Given the description of an element on the screen output the (x, y) to click on. 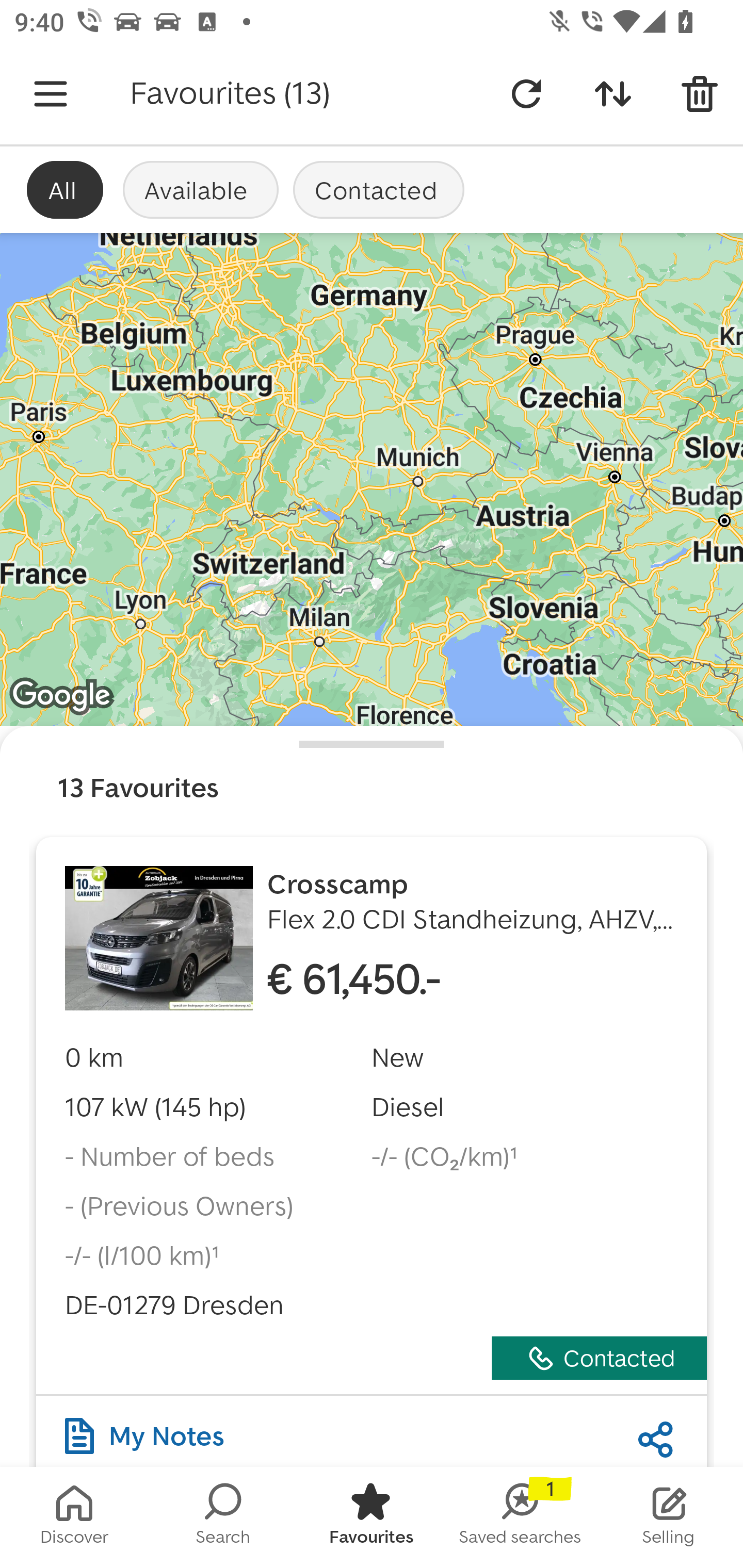
Navigate up (50, 93)
Sort (612, 93)
Delete vehicles (699, 93)
All (64, 189)
Available (200, 189)
Contacted (378, 189)
Google Map (371, 479)
My Notes (144, 1431)
HOMESCREEN Discover (74, 1517)
SEARCH Search (222, 1517)
FAVORITES Favourites (371, 1517)
SAVED_SEARCHES Saved searches 1 (519, 1517)
STOCK_LIST Selling (668, 1517)
